Given the description of an element on the screen output the (x, y) to click on. 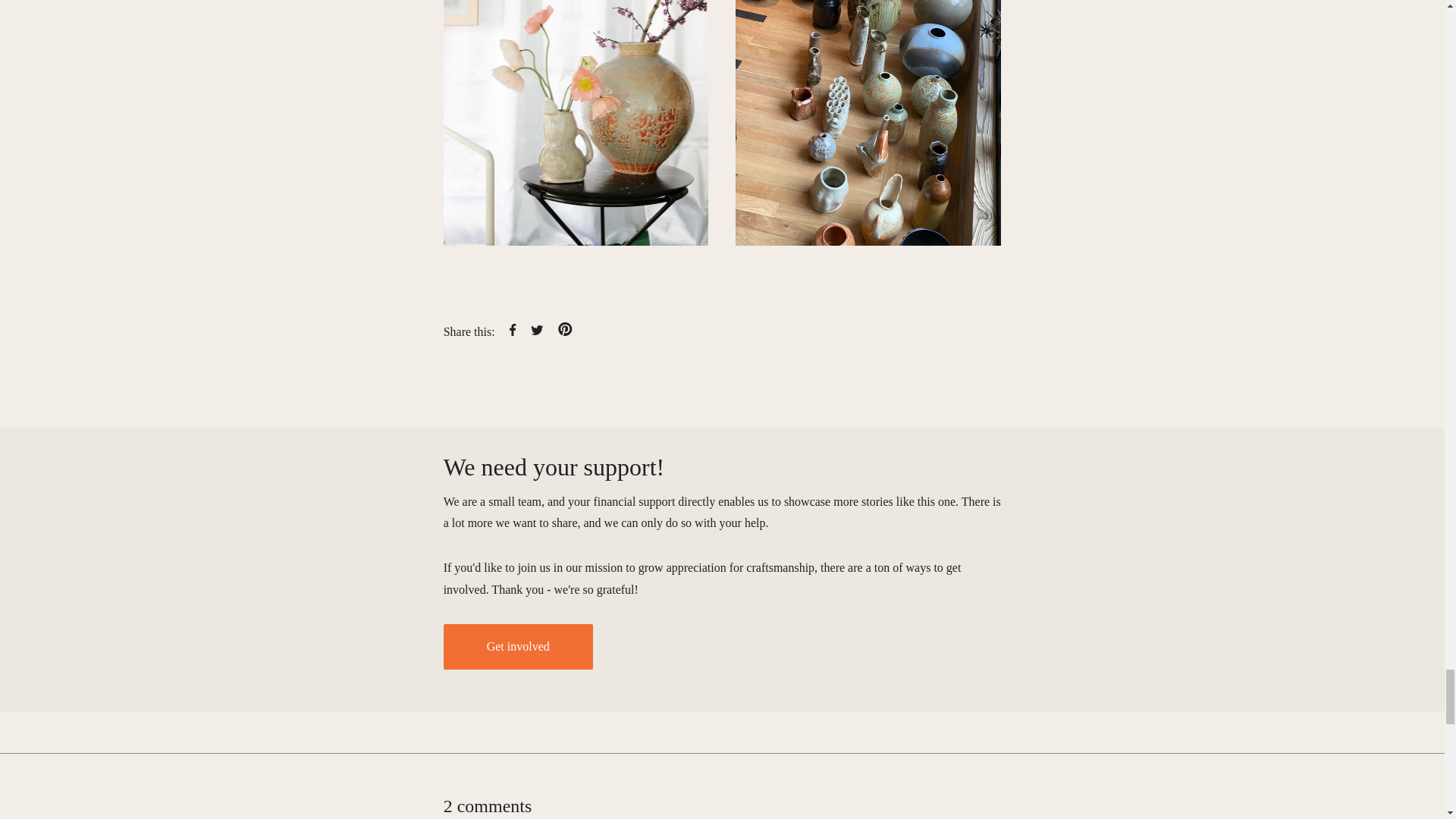
Pin on Pinterest (564, 331)
Tweet on Twitter (539, 331)
